Given the description of an element on the screen output the (x, y) to click on. 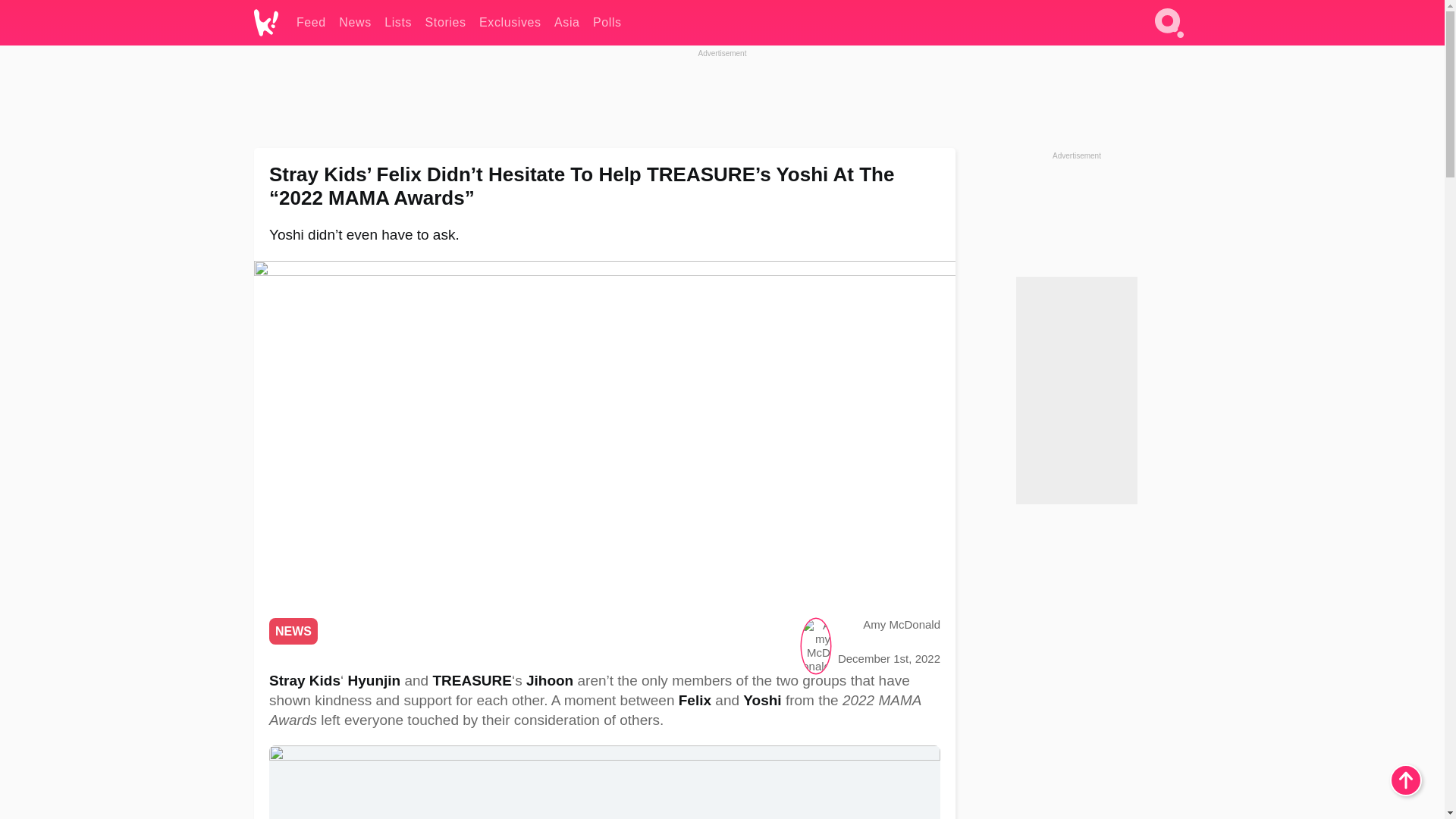
Amy McDonald (901, 624)
NEWS (293, 631)
Exclusives (510, 22)
Stories (445, 22)
